Given the description of an element on the screen output the (x, y) to click on. 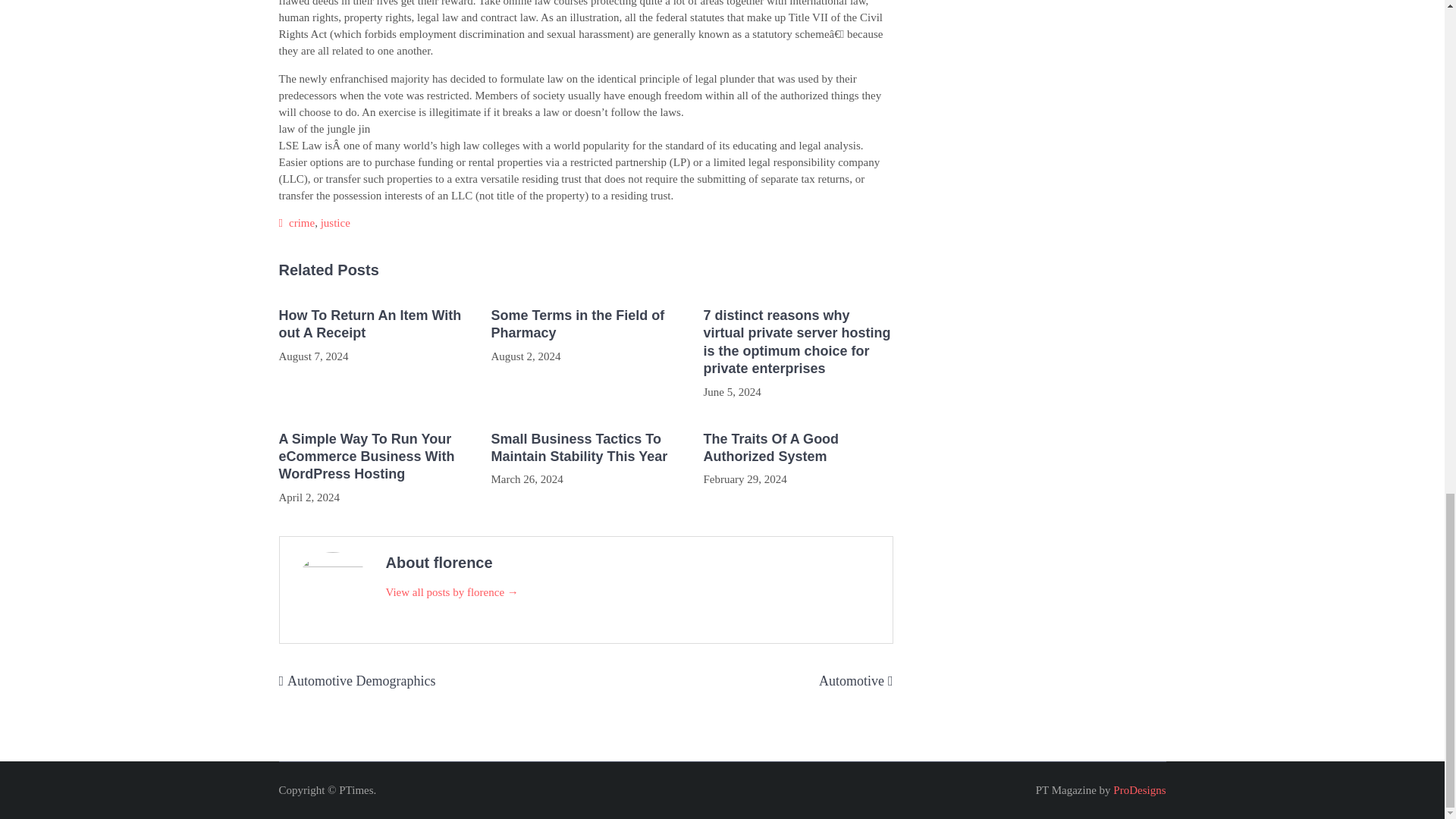
justice (335, 223)
How To Return An Item With out A Receipt (373, 325)
crime (301, 223)
Small Business Tactics To Maintain Stability This Year (584, 448)
Some Terms in the Field of Pharmacy (584, 325)
